Given the description of an element on the screen output the (x, y) to click on. 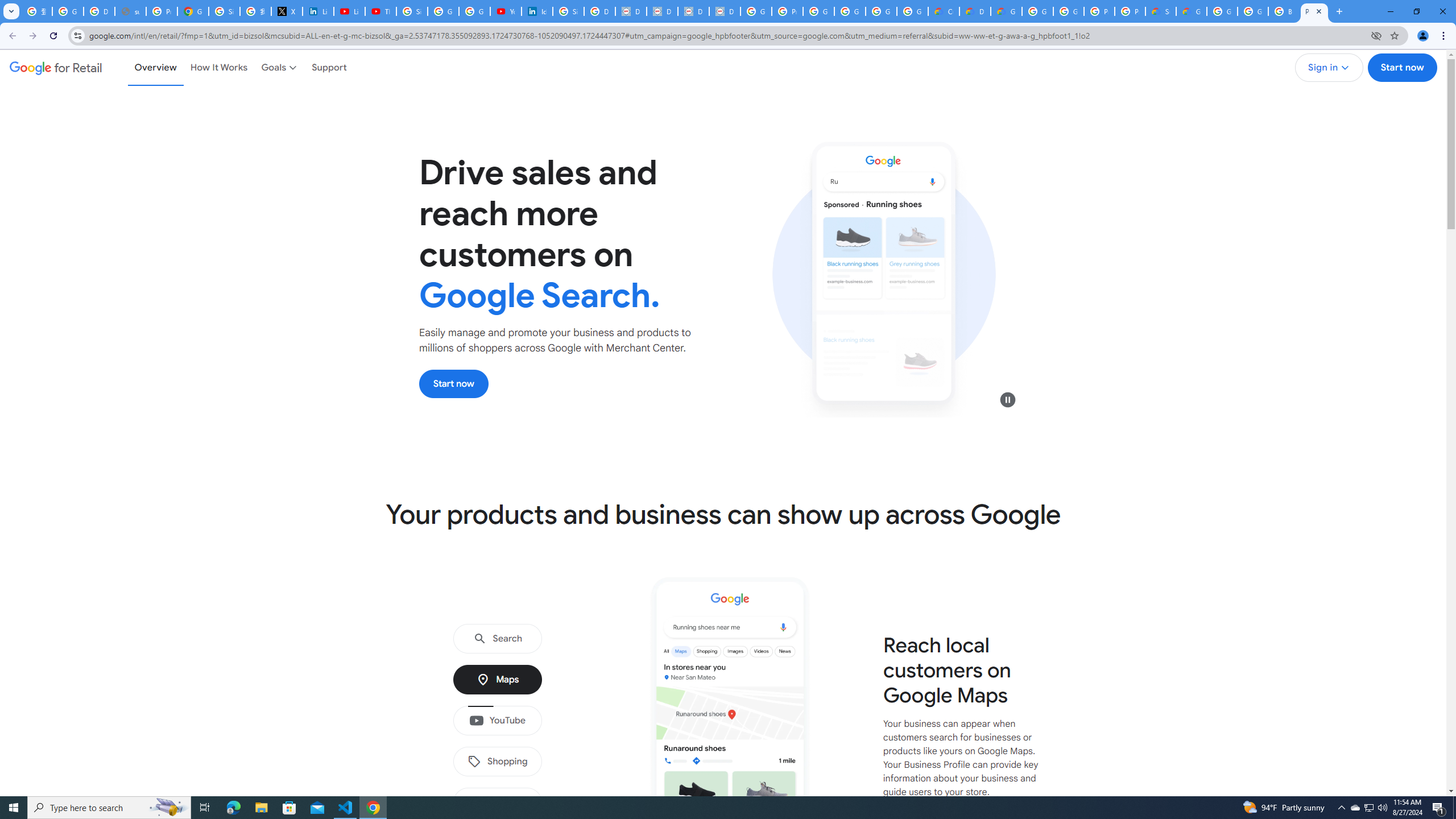
Start now (454, 383)
Images (496, 802)
YouTube (496, 720)
Goals (279, 67)
Google Cloud Platform (1252, 11)
